Given the description of an element on the screen output the (x, y) to click on. 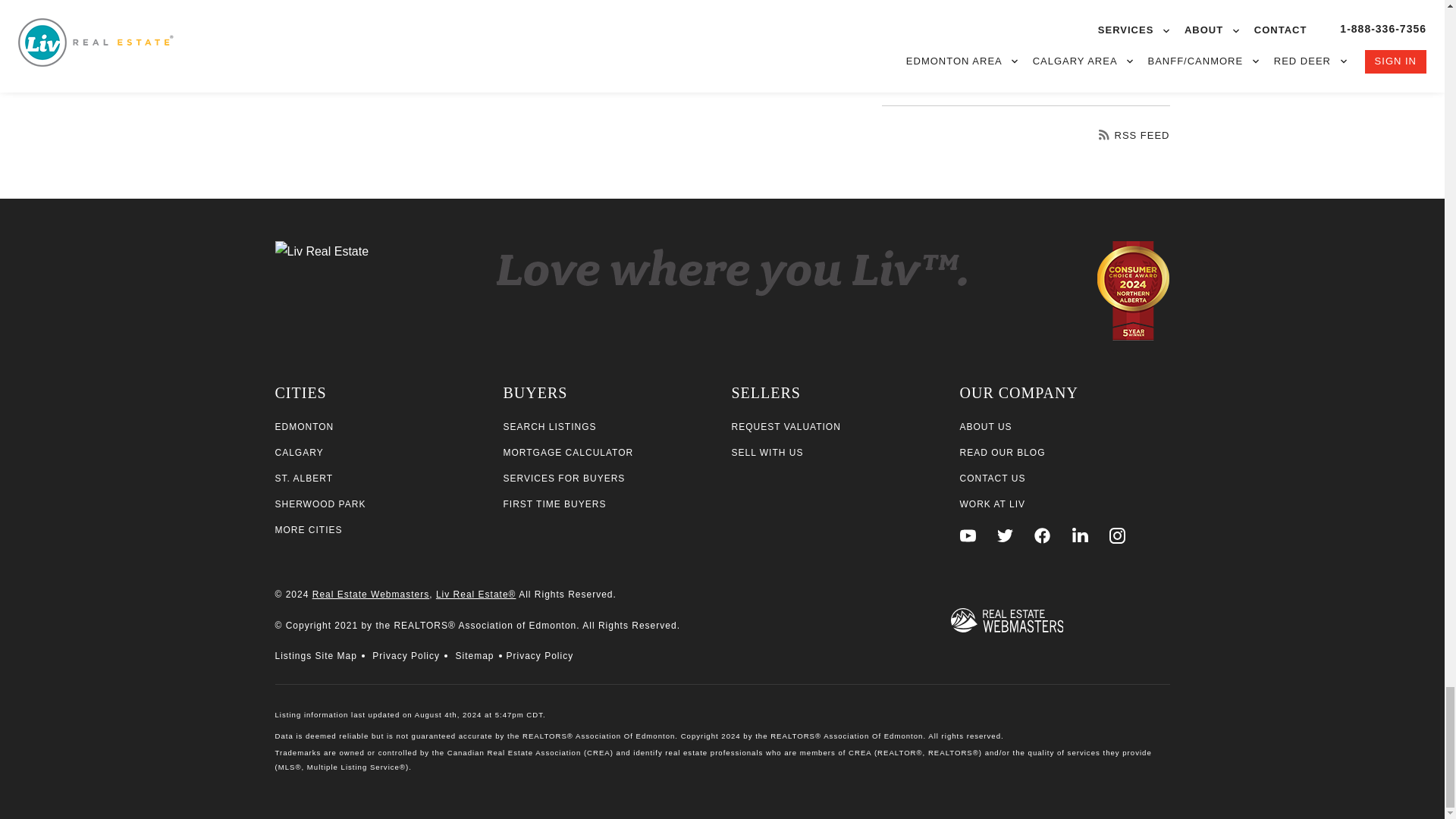
RSS FEED (1134, 134)
Consumer Choice Award 2023 - Northern Alberta (1133, 293)
